Given the description of an element on the screen output the (x, y) to click on. 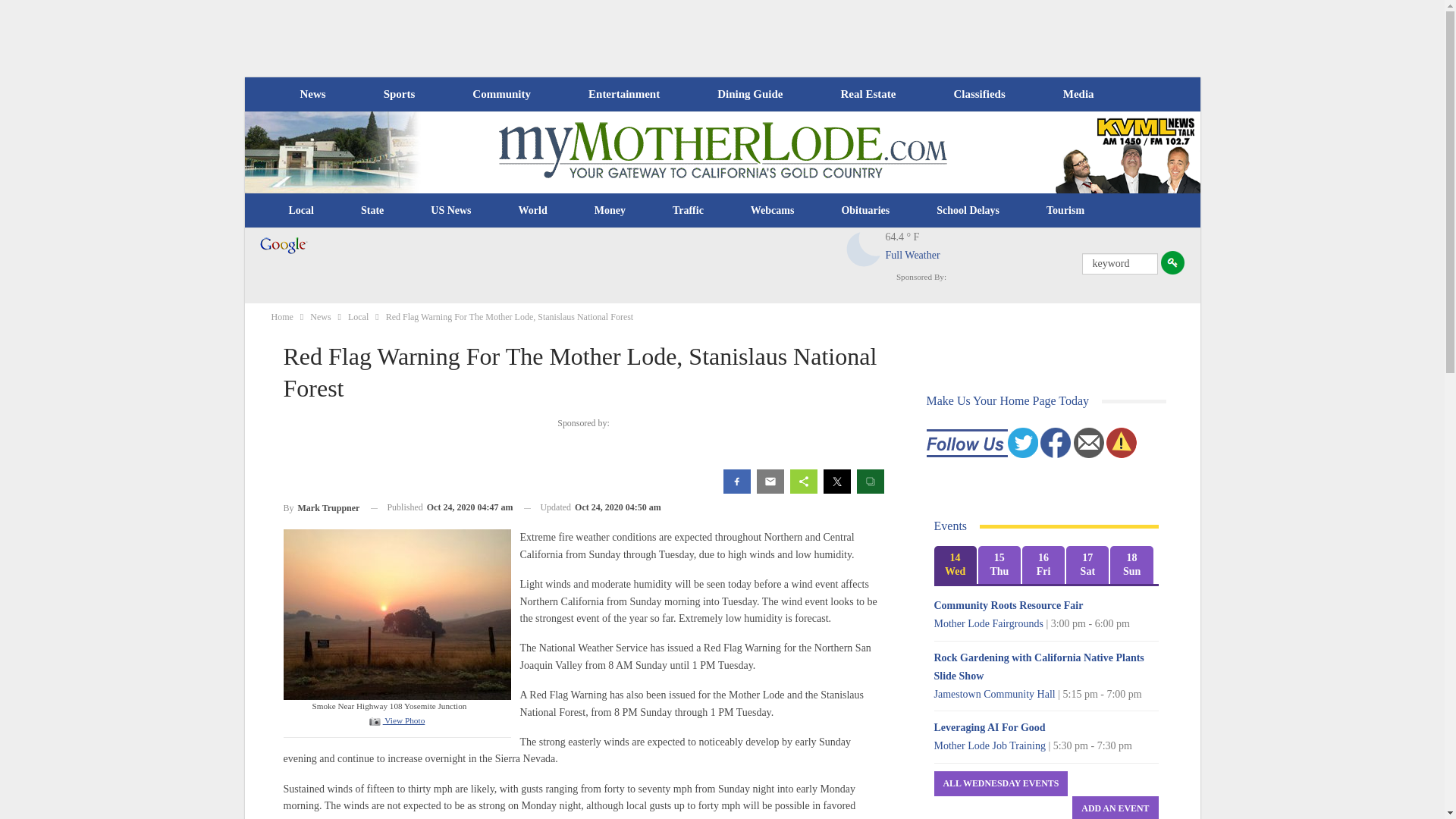
Community (501, 93)
keyword (1119, 263)
Dining Guide (749, 93)
Photo by: Steffanie Reed (397, 613)
Traffic (687, 210)
Media (1078, 93)
News (312, 93)
Clear (864, 249)
Entertainment (624, 93)
